Given the description of an element on the screen output the (x, y) to click on. 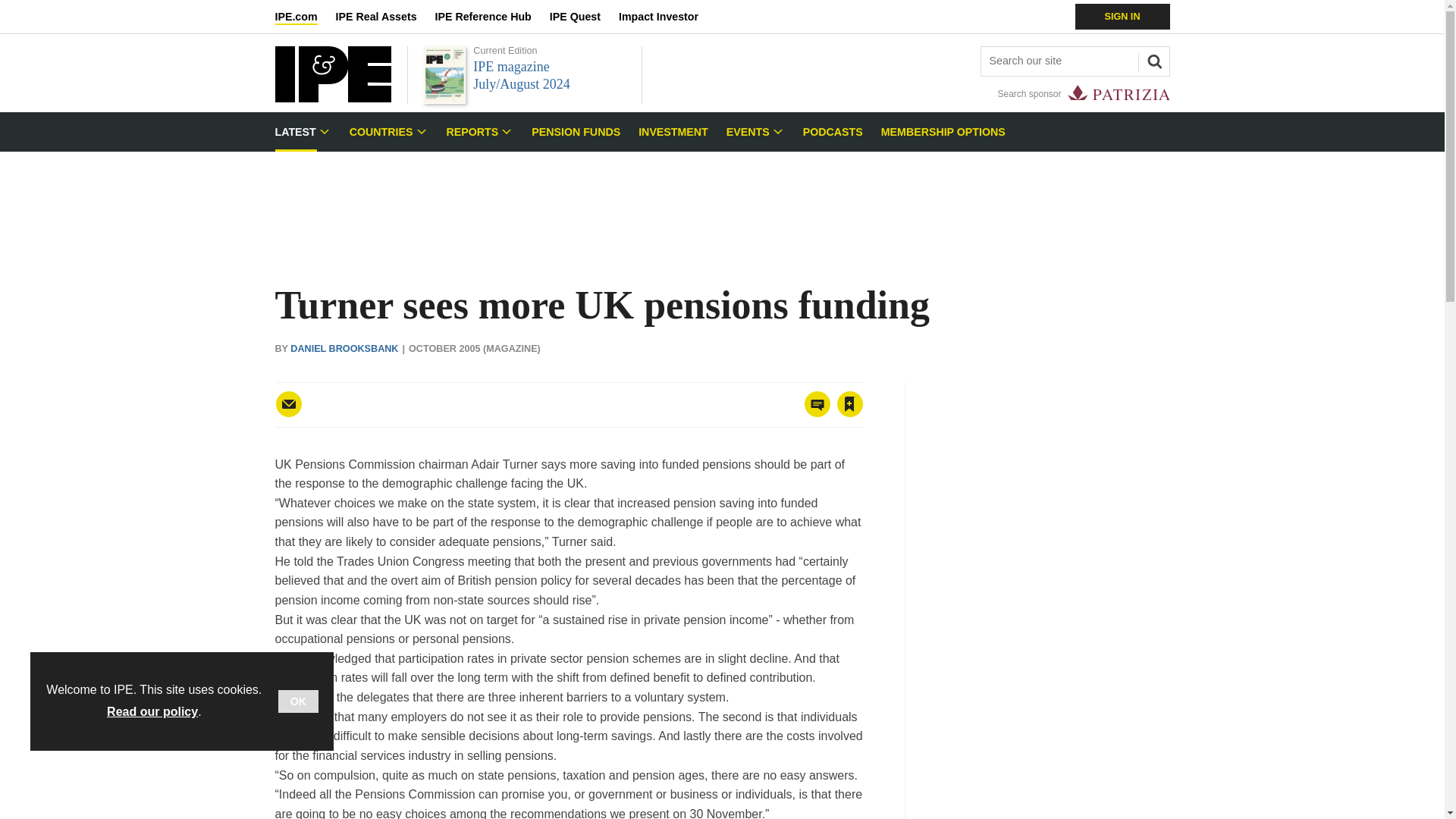
IPE Reference Hub (491, 16)
3rd party ad content (721, 201)
OK (298, 701)
Read our policy (152, 711)
IPE (332, 97)
Impact Investor (667, 16)
SIGN IN (1122, 16)
IPE Quest (583, 16)
SEARCH (1152, 59)
IPE Real Assets (384, 16)
